Given the description of an element on the screen output the (x, y) to click on. 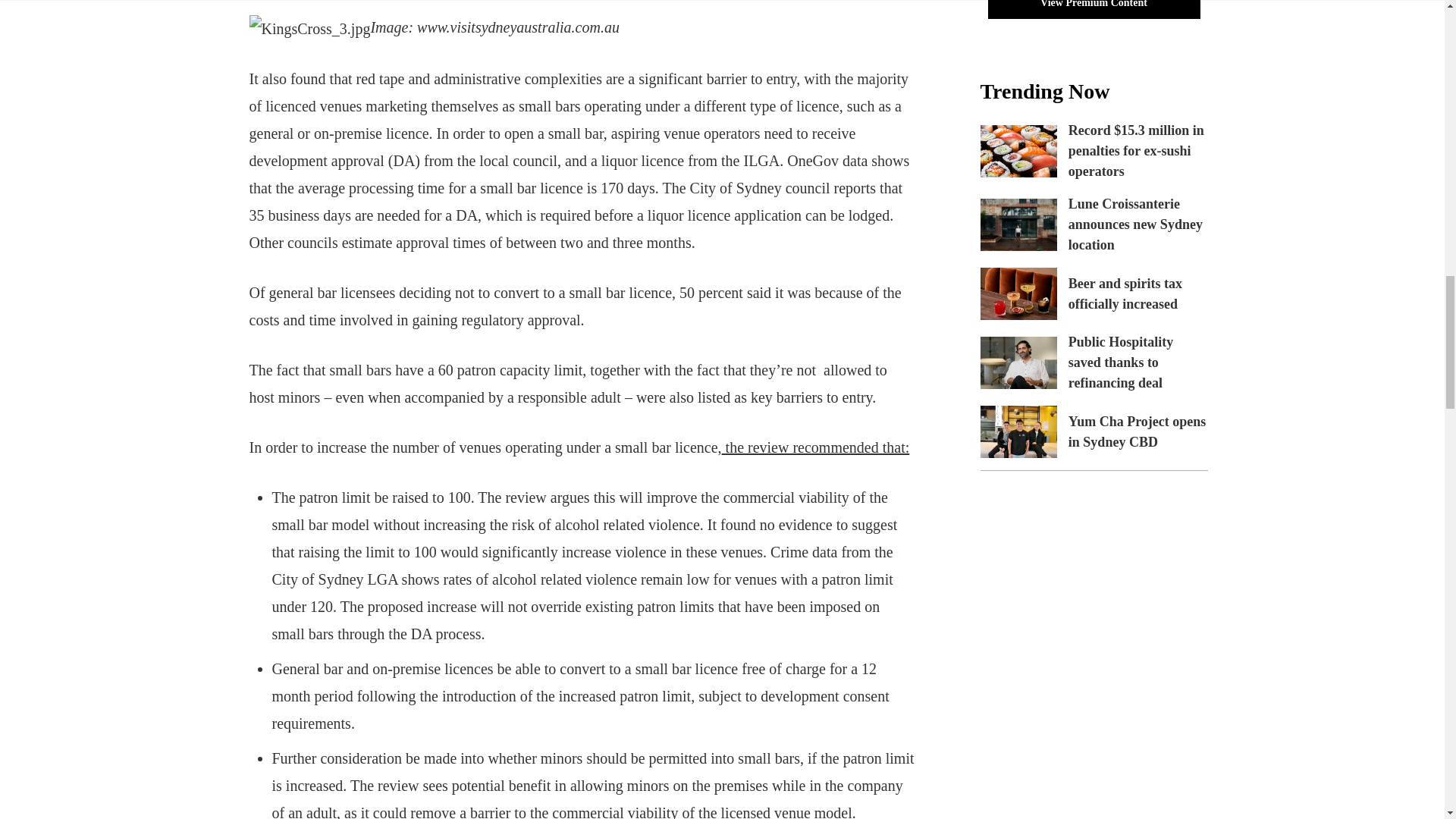
Public Hospitality saved thanks to refinancing deal (1120, 362)
www.visitsydneyaustralia.com.au (518, 26)
Lune Croissanterie announces new Sydney location (1018, 224)
Public Hospitality saved thanks to refinancing deal (1018, 362)
Beer and spirits tax officially increased (1018, 293)
Yum Cha Project opens in Sydney CBD (1018, 431)
Yum Cha Project opens in Sydney CBD (1137, 431)
the review recommended that: (816, 446)
Lune Croissanterie announces new Sydney location (1135, 224)
Beer and spirits tax officially increased (1125, 294)
